Given the description of an element on the screen output the (x, y) to click on. 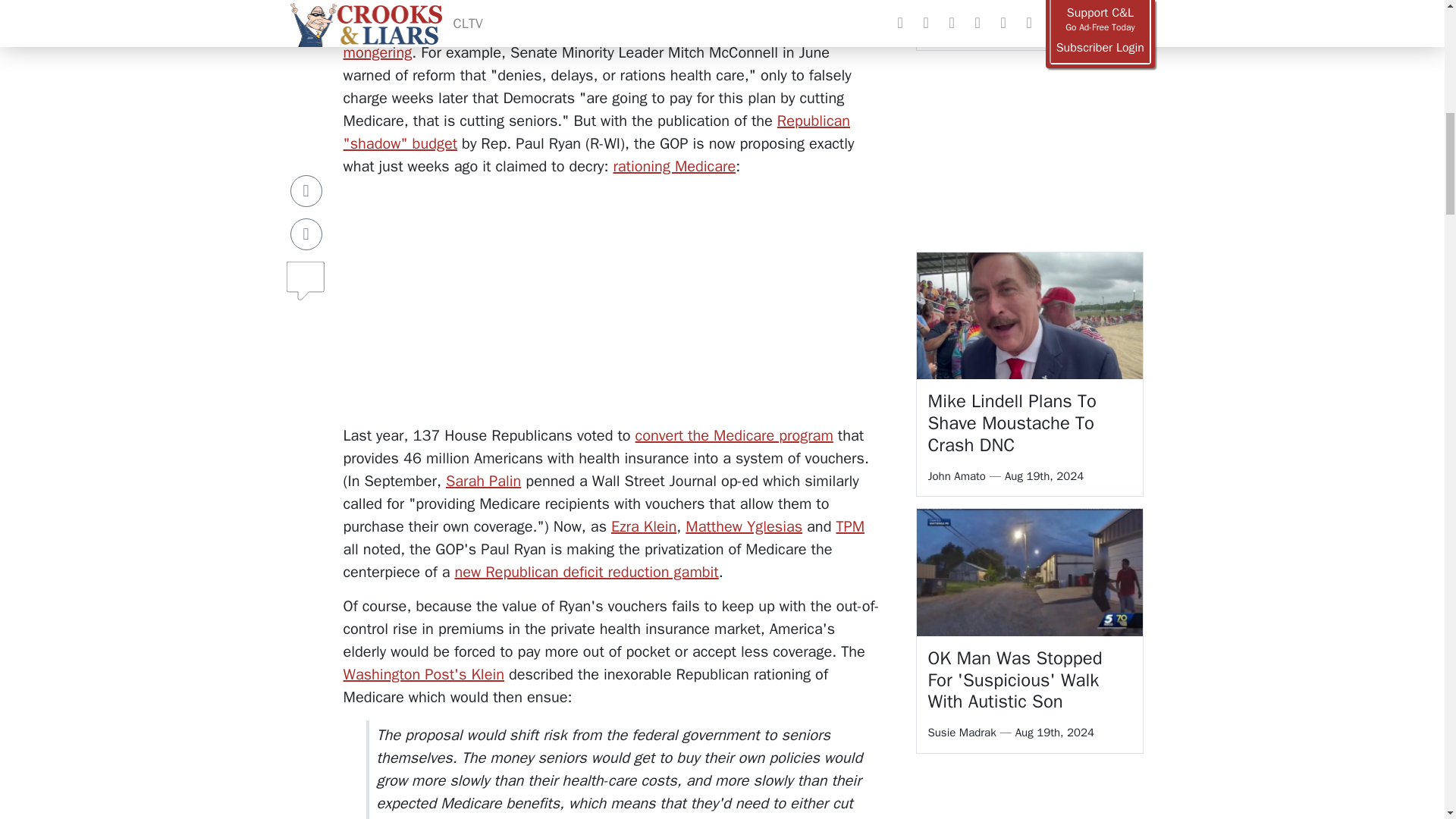
Advertisement (611, 295)
rationing Medicare (673, 166)
Ezra Klein (644, 526)
cuts to Medicare (510, 29)
Republican fear mongering (607, 41)
Sarah Palin (483, 480)
rationing (378, 29)
convert the Medicare program (733, 435)
Republican "shadow" budget (596, 132)
Matthew Yglesias (743, 526)
